Given the description of an element on the screen output the (x, y) to click on. 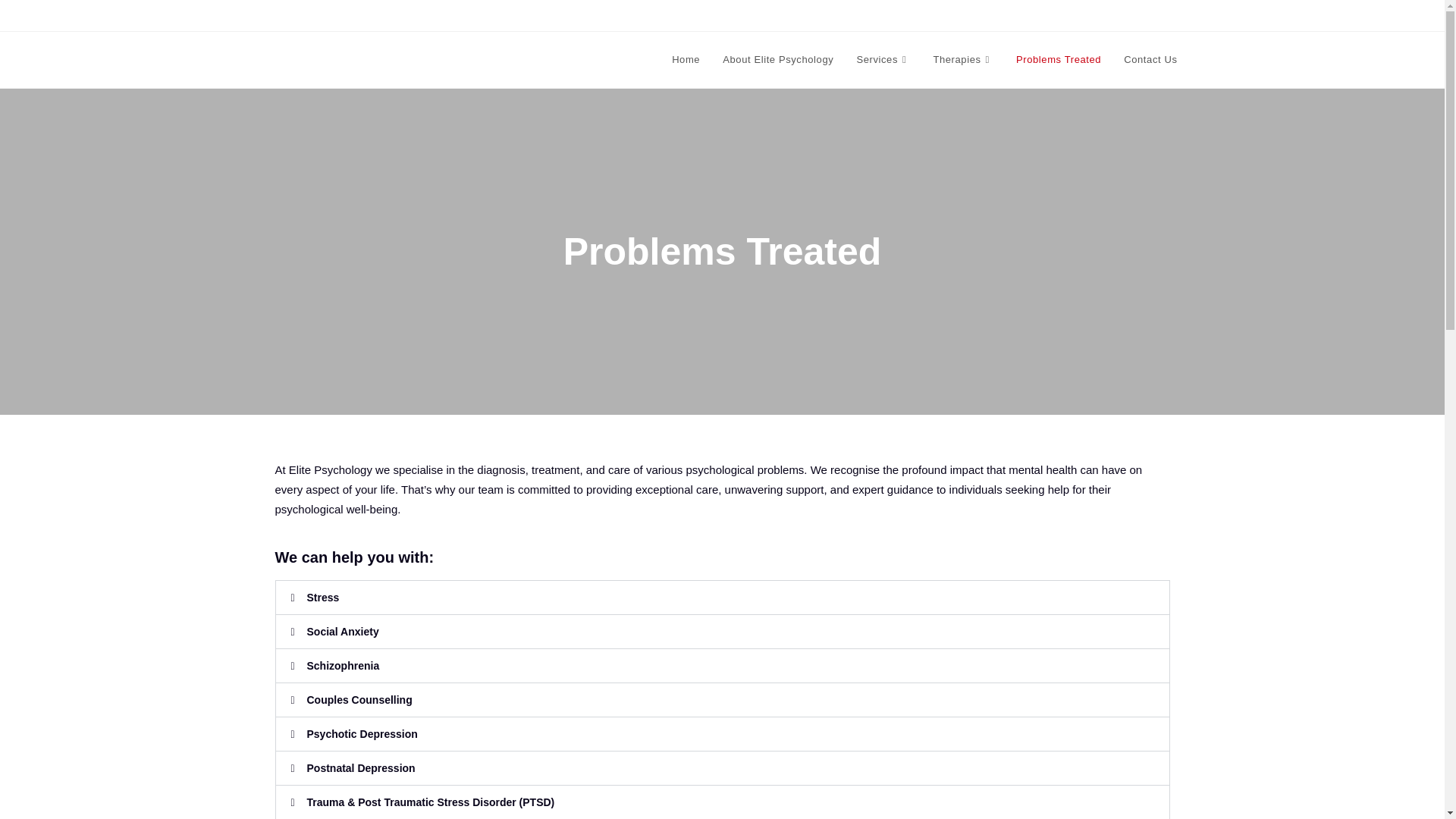
020 3815 7935 (309, 15)
Services (882, 59)
Home (686, 59)
Contact Us (1150, 59)
Therapies (962, 59)
Problems Treated (1058, 59)
About Elite Psychology (777, 59)
